Given the description of an element on the screen output the (x, y) to click on. 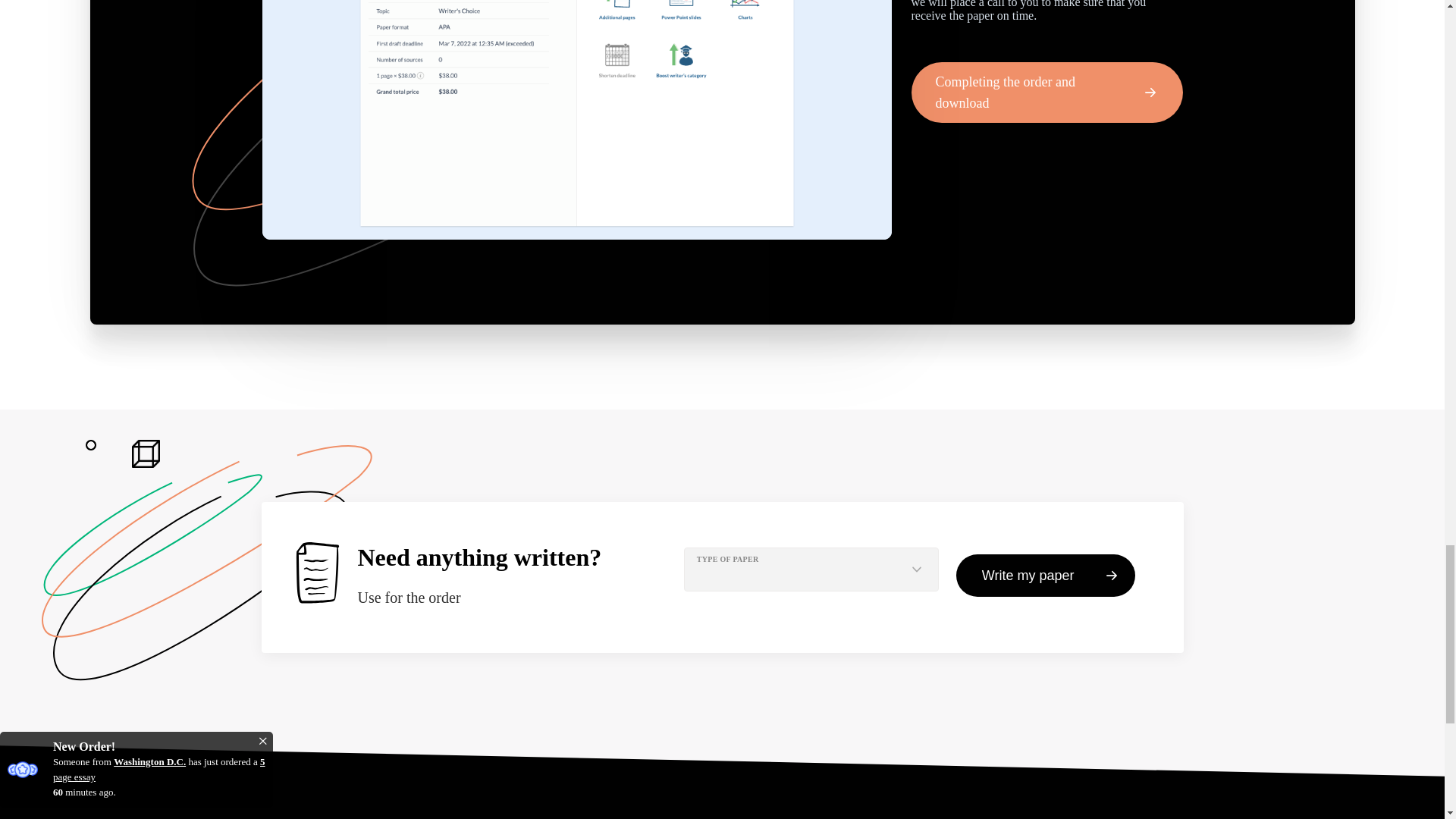
Write my paper (1045, 575)
Completing the order and download (1046, 92)
Write my paper (1045, 575)
